Given the description of an element on the screen output the (x, y) to click on. 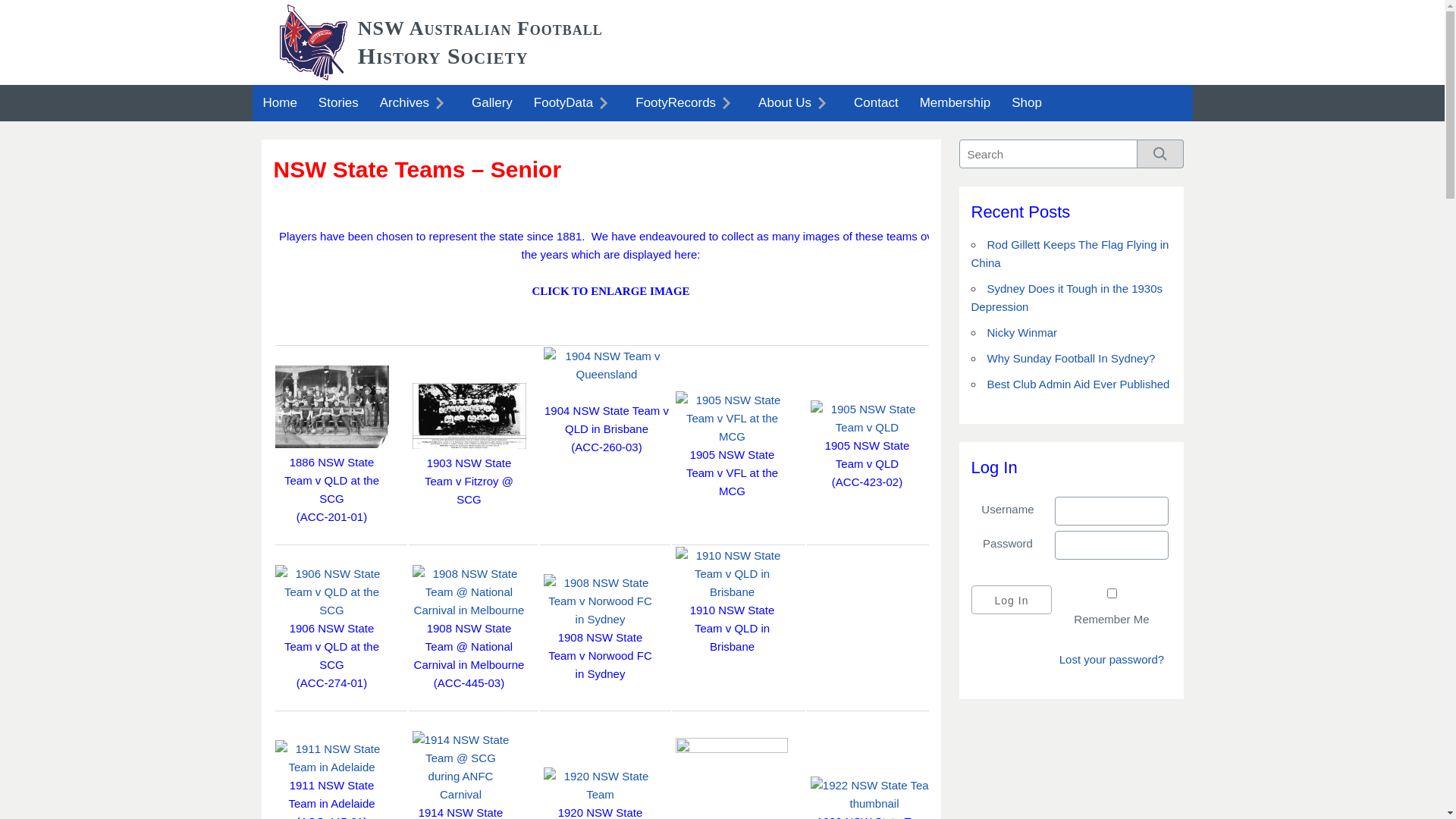
Gallery Element type: text (492, 102)
Log In Element type: text (1010, 599)
FootyRecords Element type: text (685, 102)
Why Sunday Football In Sydney? Element type: text (1071, 357)
Stories Element type: text (338, 102)
  Element type: text (739, 683)
FootyData Element type: text (573, 102)
Contact Element type: text (876, 102)
Rod Gillett Keeps The Flag Flying in China Element type: text (1069, 253)
Shop Element type: text (1026, 102)
Archives Element type: text (415, 102)
Home Element type: text (279, 102)
Membership Element type: text (955, 102)
NSW Australian Football
History Society Element type: text (479, 42)
Lost your password? Element type: text (1111, 658)
Nicky Winmar Element type: text (1022, 332)
Best Club Admin Aid Ever Published Element type: text (1078, 383)
Sydney Does it Tough in the 1930s Depression Element type: text (1066, 297)
About Us Element type: text (795, 102)
